Given the description of an element on the screen output the (x, y) to click on. 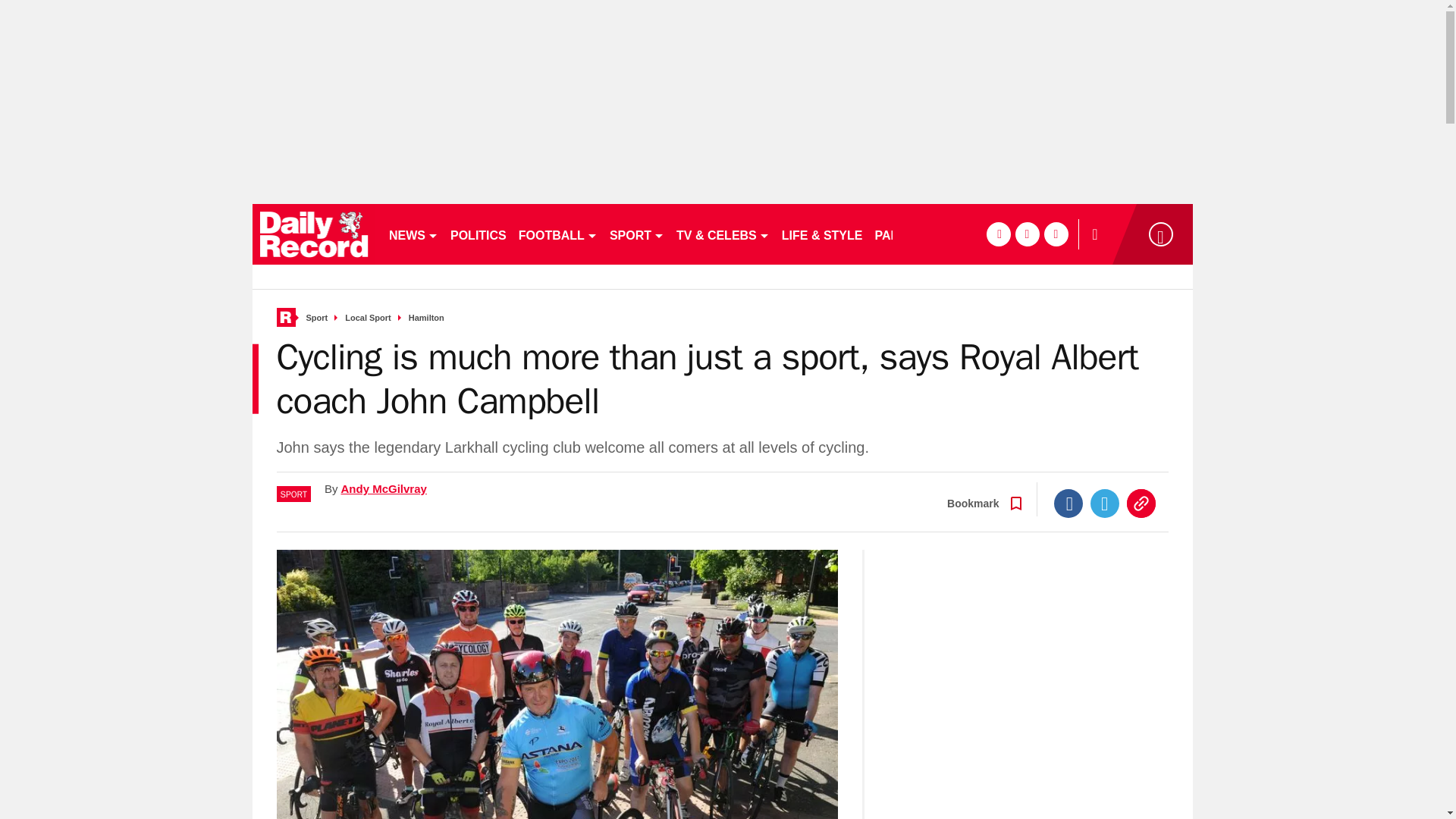
SPORT (636, 233)
instagram (1055, 233)
POLITICS (478, 233)
Facebook (1068, 502)
dailyrecord (313, 233)
FOOTBALL (558, 233)
facebook (997, 233)
twitter (1026, 233)
Twitter (1104, 502)
NEWS (413, 233)
